Given the description of an element on the screen output the (x, y) to click on. 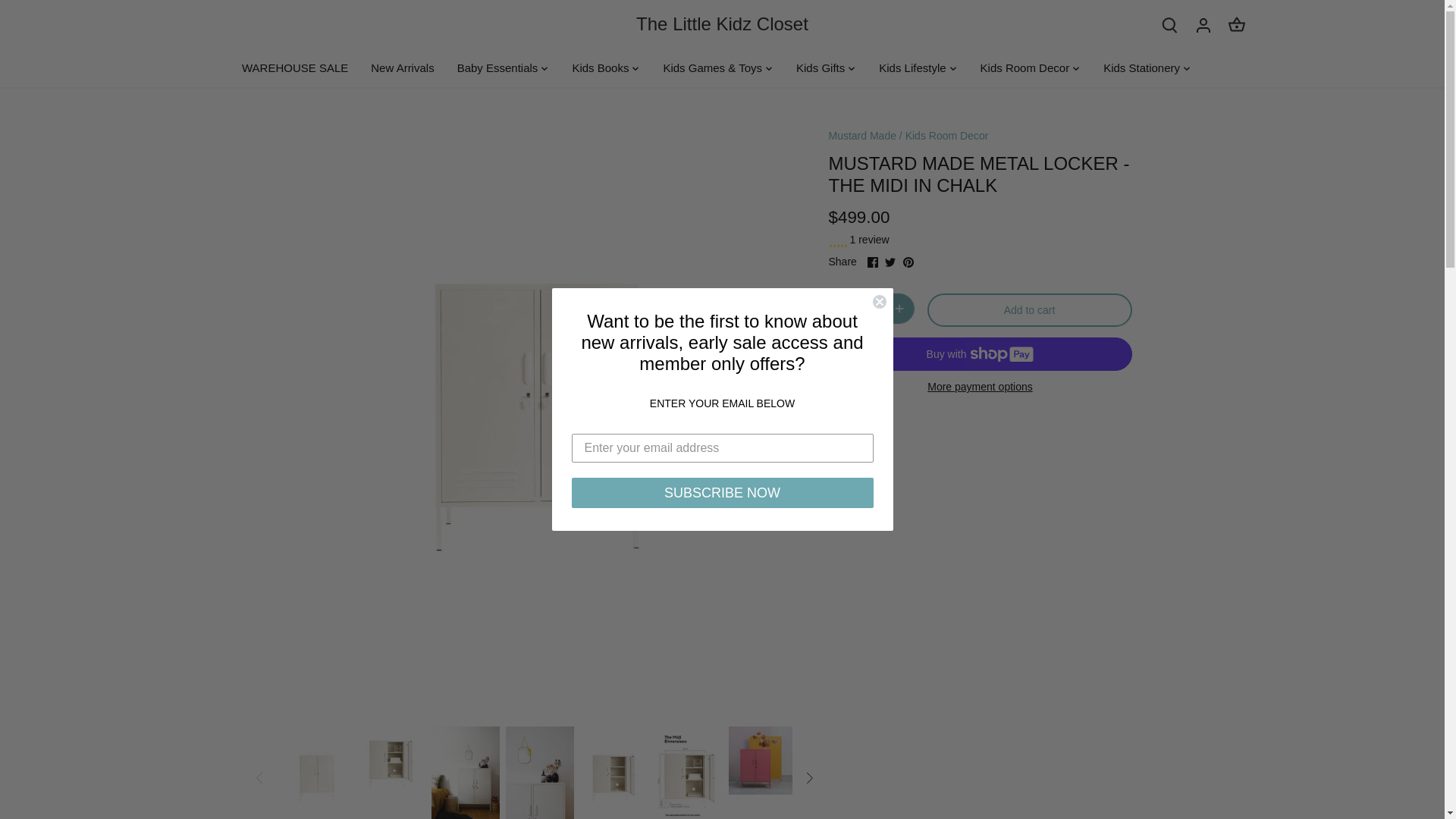
Baby Essentials (497, 68)
New Arrivals (402, 68)
WAREHOUSE SALE (300, 68)
Kids Books (600, 68)
1 (872, 308)
Facebook (872, 262)
Pinterest (908, 262)
The Little Kidz Closet (722, 24)
Twitter (890, 262)
